Given the description of an element on the screen output the (x, y) to click on. 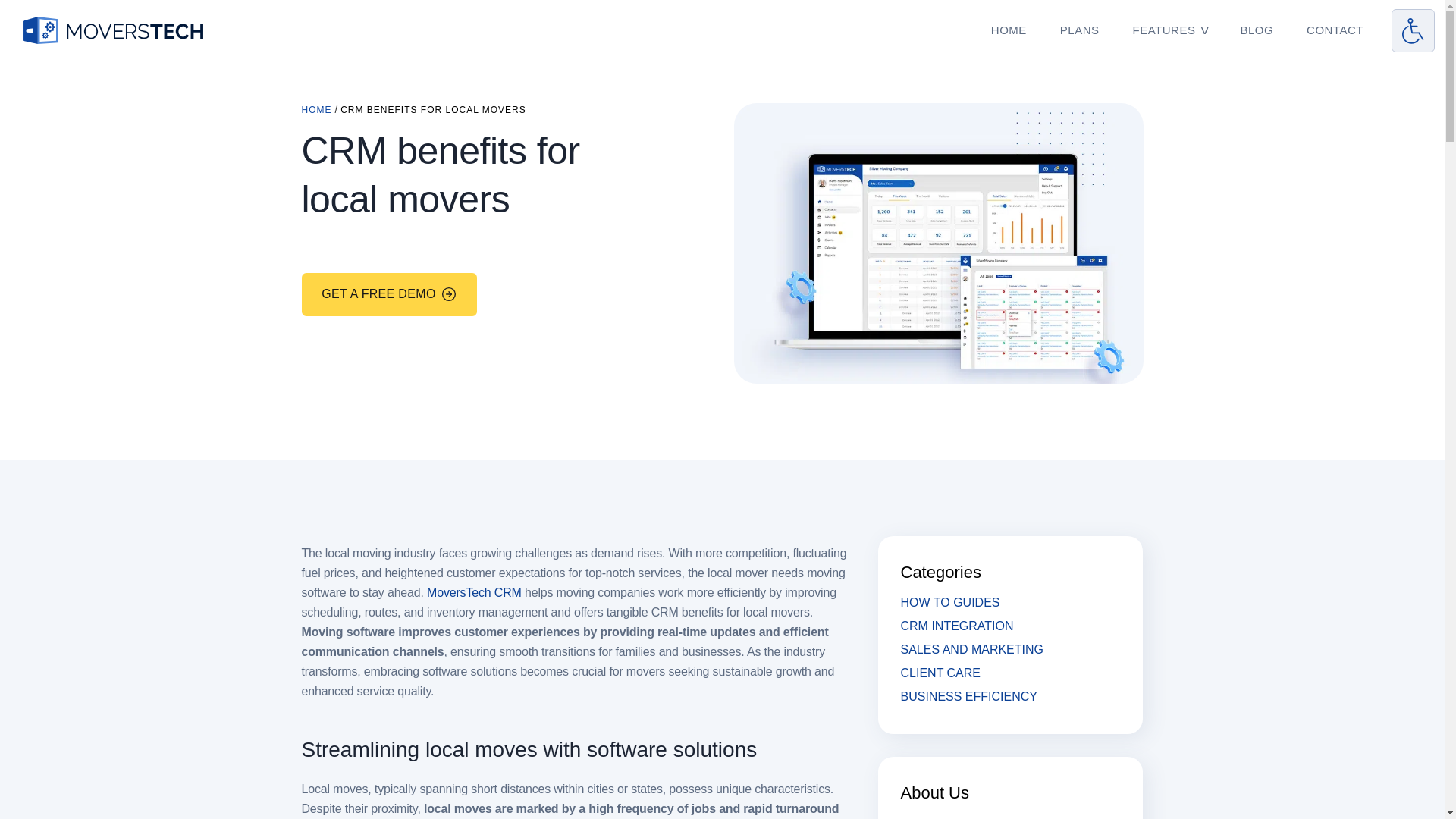
HOW TO GUIDES (950, 602)
CRM INTEGRATION (957, 625)
PLANS (1079, 29)
SALES AND MARKETING (972, 649)
BLOG (1256, 29)
BUSINESS EFFICIENCY (968, 696)
MoversTech CRM (473, 592)
HOME (316, 109)
FEATURES (1164, 29)
CONTACT (1335, 29)
